Given the description of an element on the screen output the (x, y) to click on. 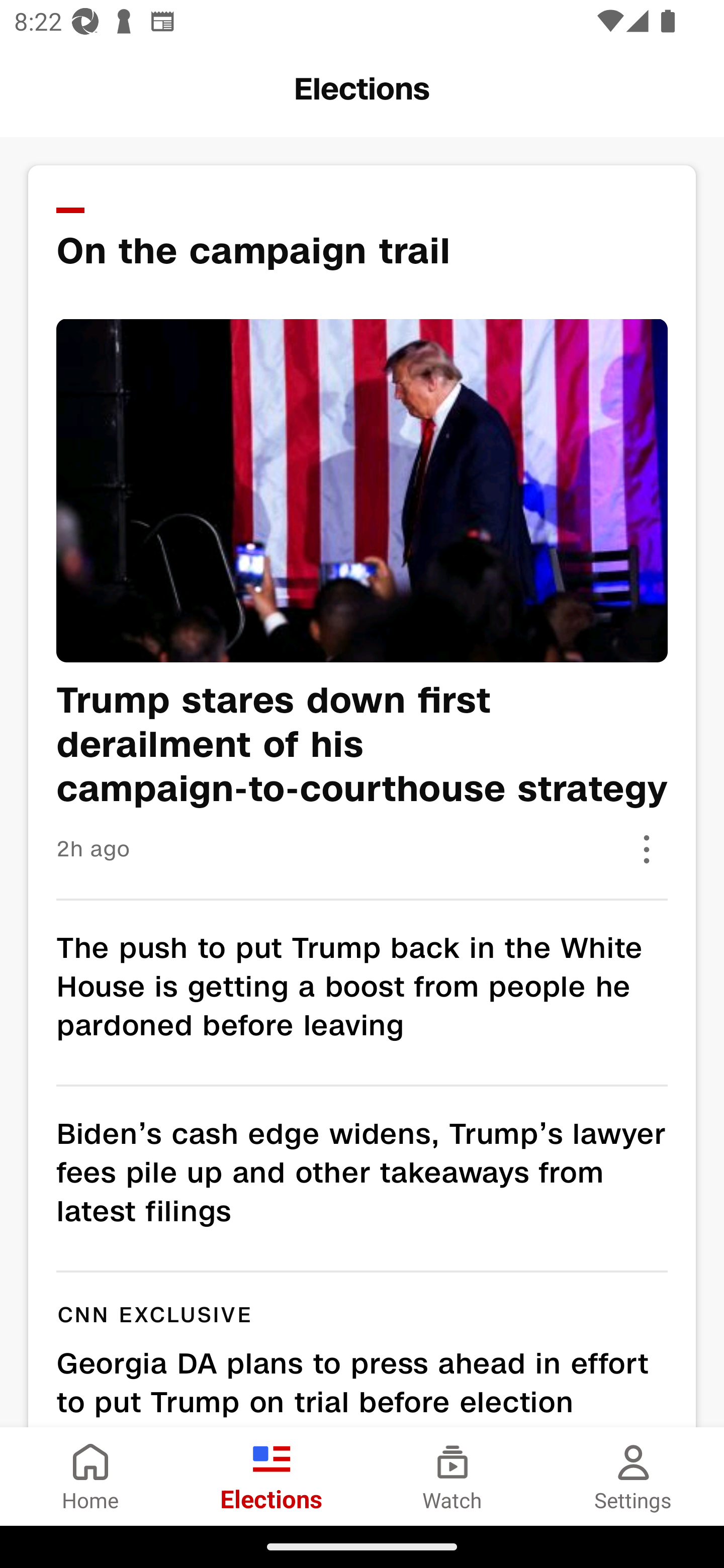
More actions (646, 849)
Home (90, 1475)
Watch (452, 1475)
Settings (633, 1475)
